Given the description of an element on the screen output the (x, y) to click on. 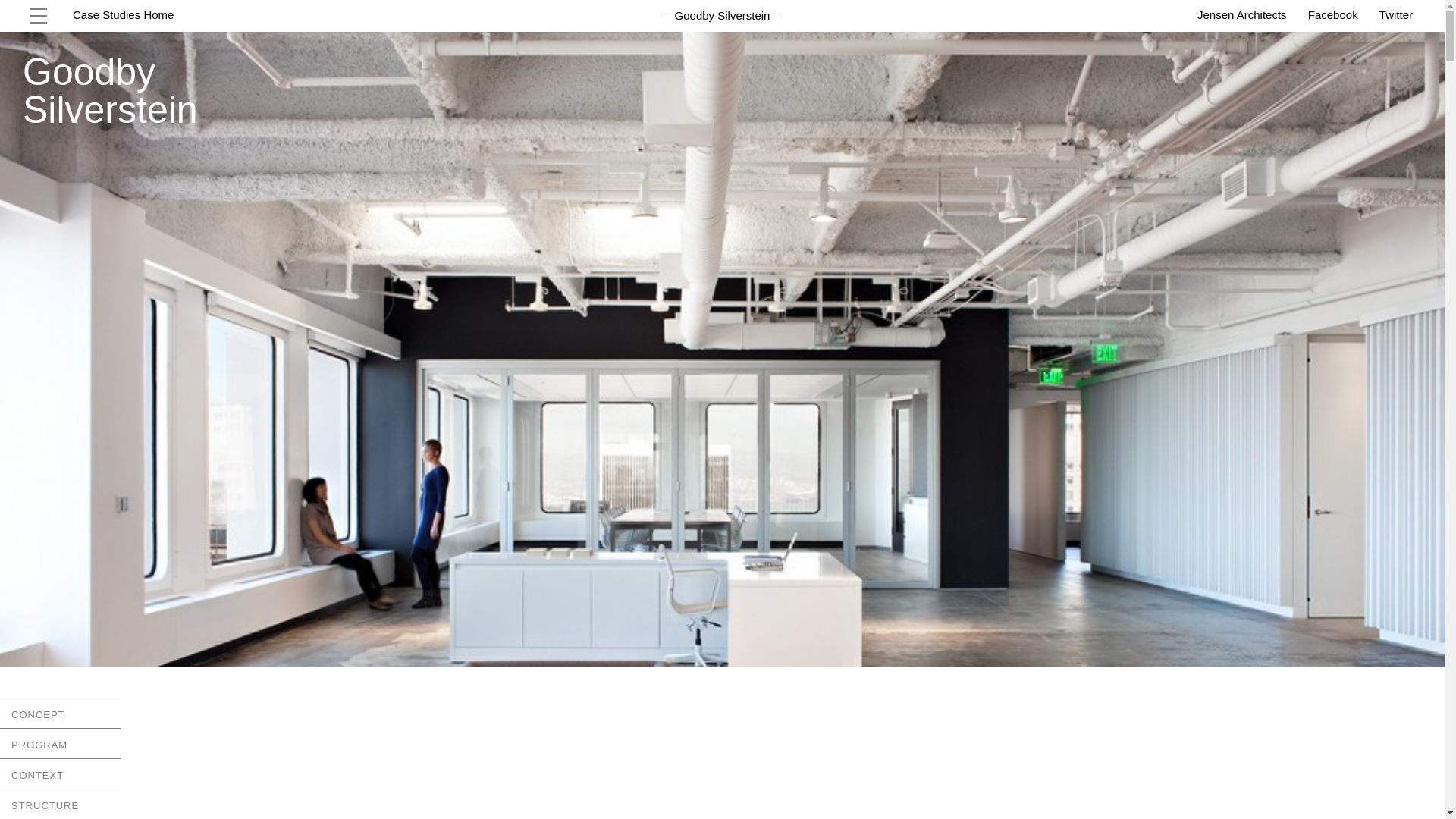
STRUCTURE (60, 804)
Twitter (1395, 14)
Case Studies Home (122, 14)
PROGRAM (60, 745)
Facebook (1332, 14)
Subscribe (46, 646)
CONCEPT (60, 715)
Jensen Architects (1241, 14)
Menu (39, 15)
CONTEXT (60, 775)
Goodby Silverstein (722, 15)
